Given the description of an element on the screen output the (x, y) to click on. 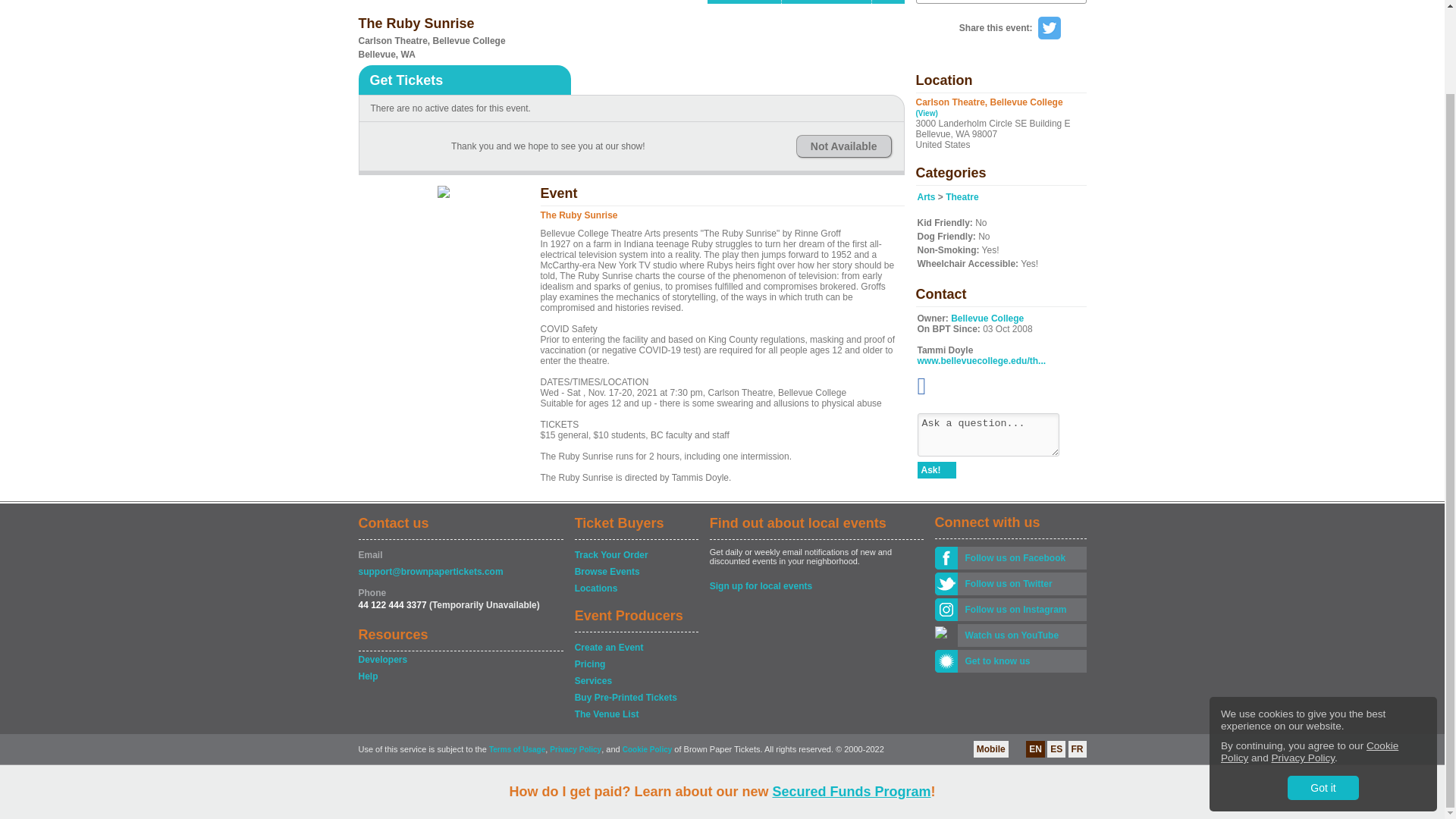
Pricing (636, 663)
Bellevue College (986, 317)
Help (888, 2)
Got it (1322, 692)
Submit to Twitter! (1048, 27)
Track Your Order (636, 554)
Not Available (843, 146)
The Venue List (636, 713)
Create Your Event (826, 2)
Cookie Policy (1309, 657)
